Given the description of an element on the screen output the (x, y) to click on. 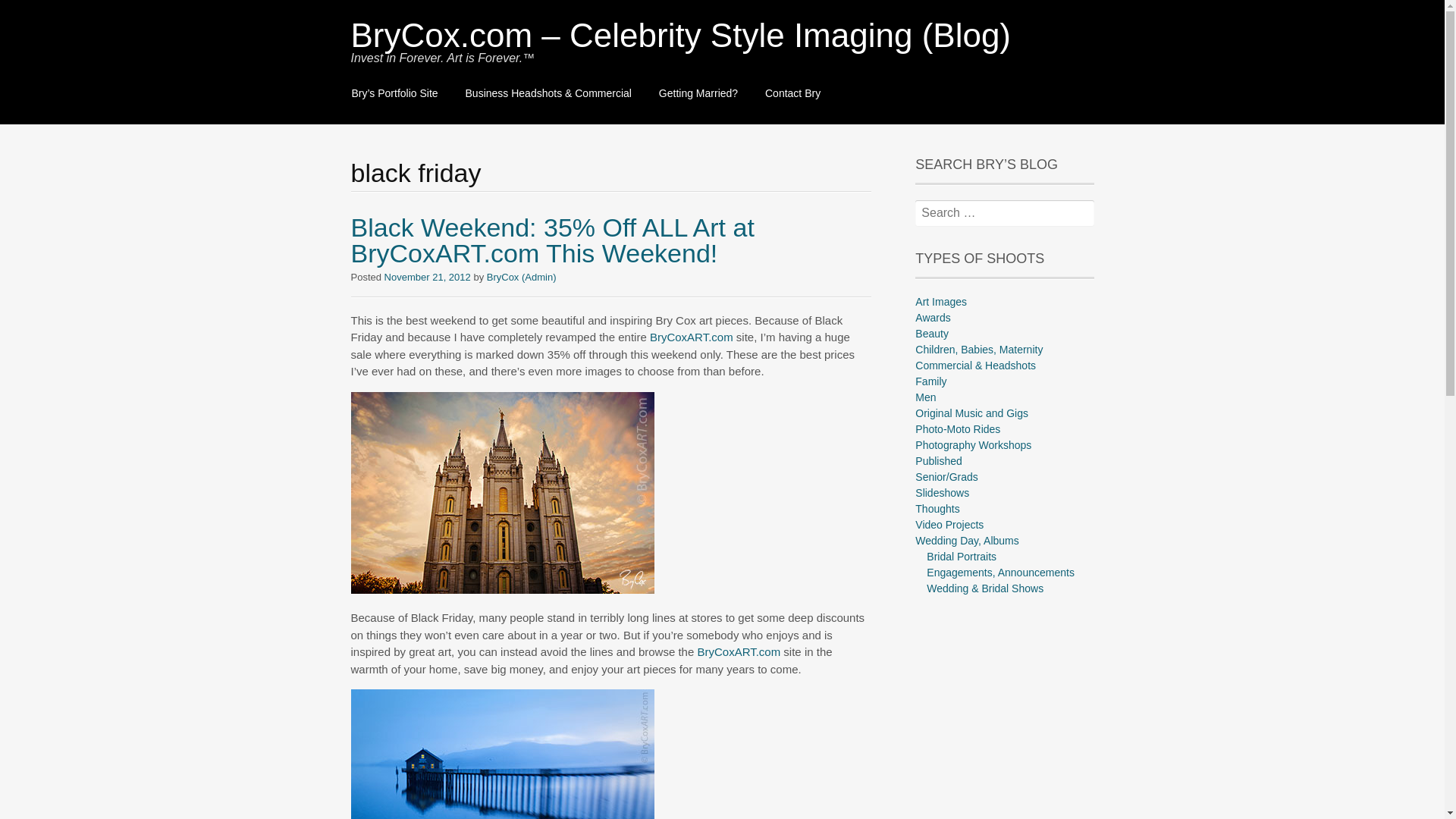
Salt Lake Temple During a Fall Sunset (501, 491)
BryCoxART.com (738, 651)
Serene Dock Home at Twilight (501, 754)
Beauty (932, 333)
Children, Babies, Maternity (978, 349)
Getting Married? (697, 93)
Skip to content (351, 85)
BryCoxART.com (691, 336)
November 21, 2012 (427, 276)
BryCoxART.com (691, 336)
Awards (932, 317)
BryCoxART.com (501, 588)
Art Images (940, 301)
Contact Bry (792, 93)
BryCoxART.com (738, 651)
